Given the description of an element on the screen output the (x, y) to click on. 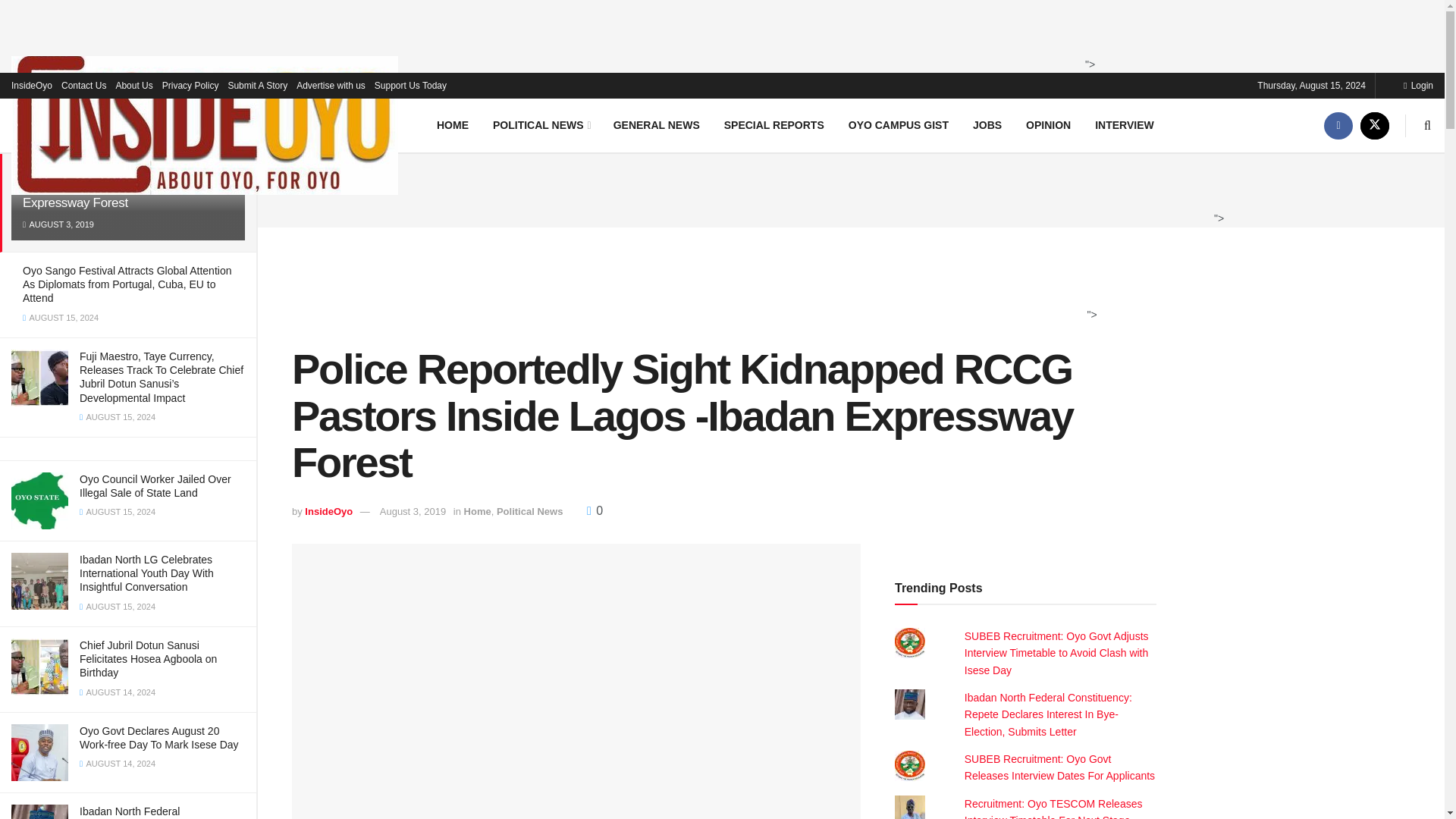
Advertisement (846, 187)
Advertisement (716, 33)
Oyo Council Worker Jailed Over Illegal Sale of State Land (155, 485)
HOME (452, 125)
InsideOyo (31, 85)
POLITICAL NEWS (540, 125)
Advertisement (718, 284)
Login (1417, 85)
